Given the description of an element on the screen output the (x, y) to click on. 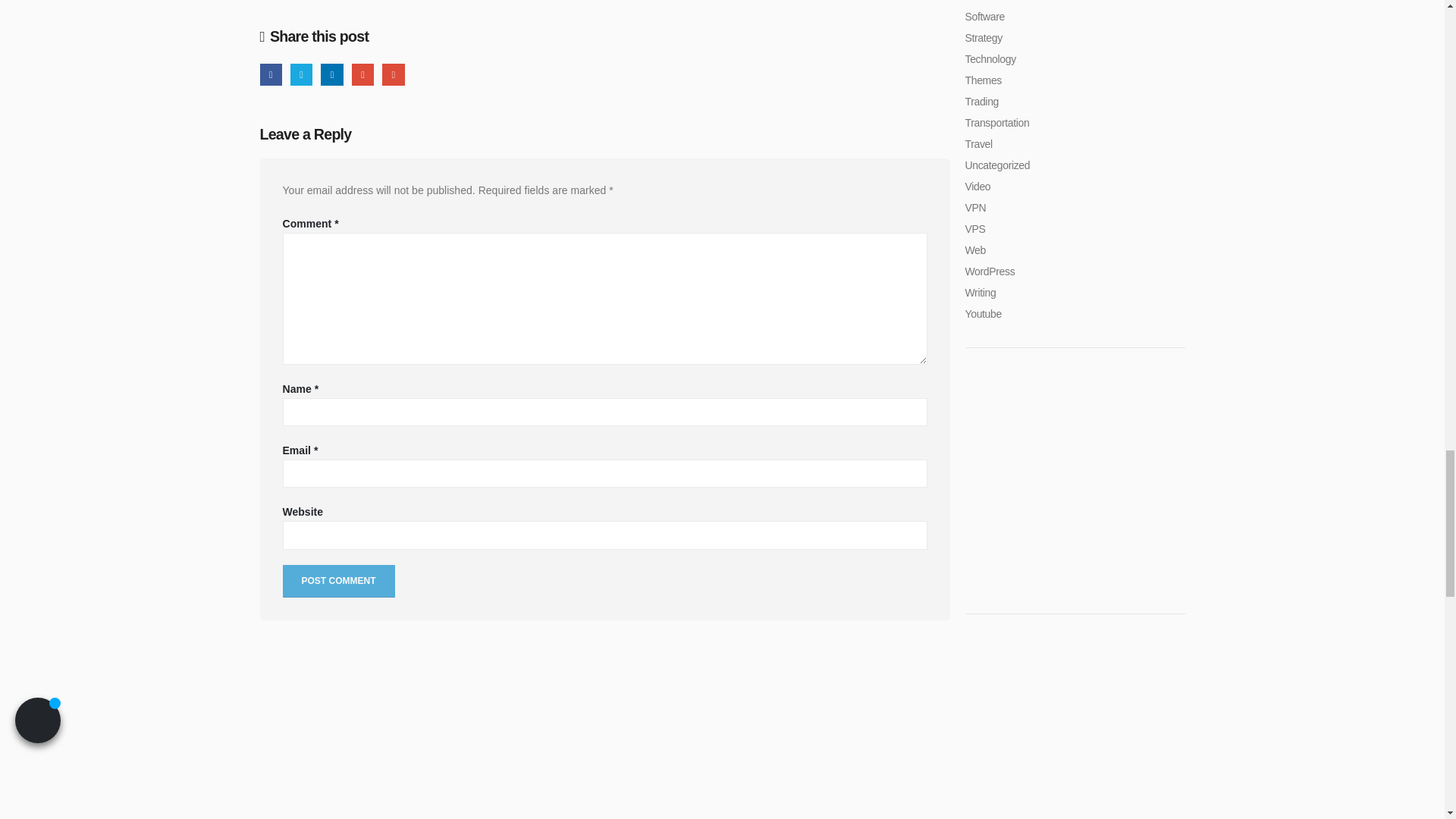
Email (392, 74)
Email (392, 74)
LinkedIn (331, 74)
Facebook (270, 74)
LinkedIn (331, 74)
Post Comment (338, 581)
Facebook (270, 74)
Twitter (301, 74)
Twitter (301, 74)
Post Comment (338, 581)
